Given the description of an element on the screen output the (x, y) to click on. 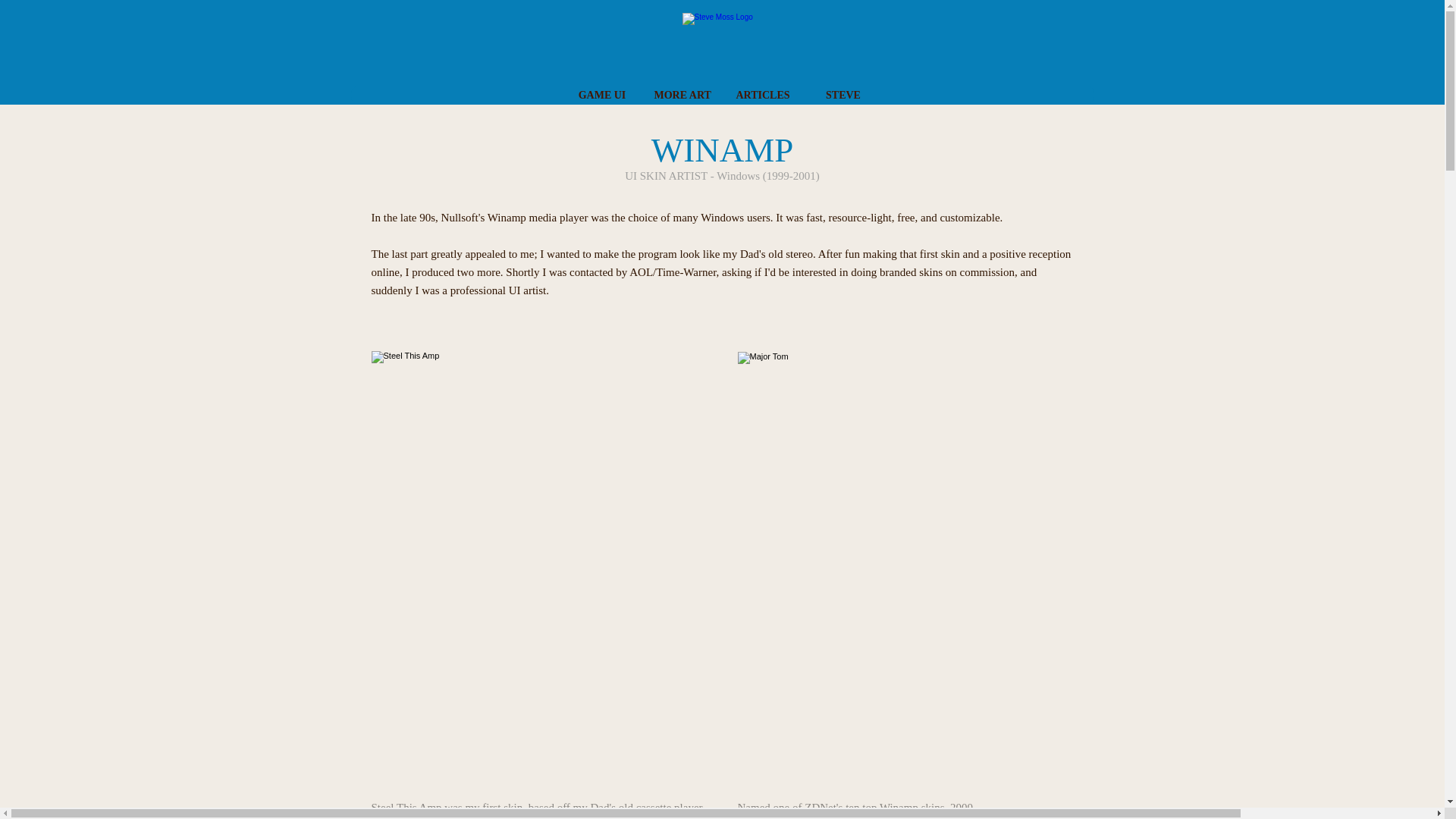
MORE ART (682, 94)
STEVE (842, 94)
ARTICLES (762, 94)
GAME UI (601, 94)
